Given the description of an element on the screen output the (x, y) to click on. 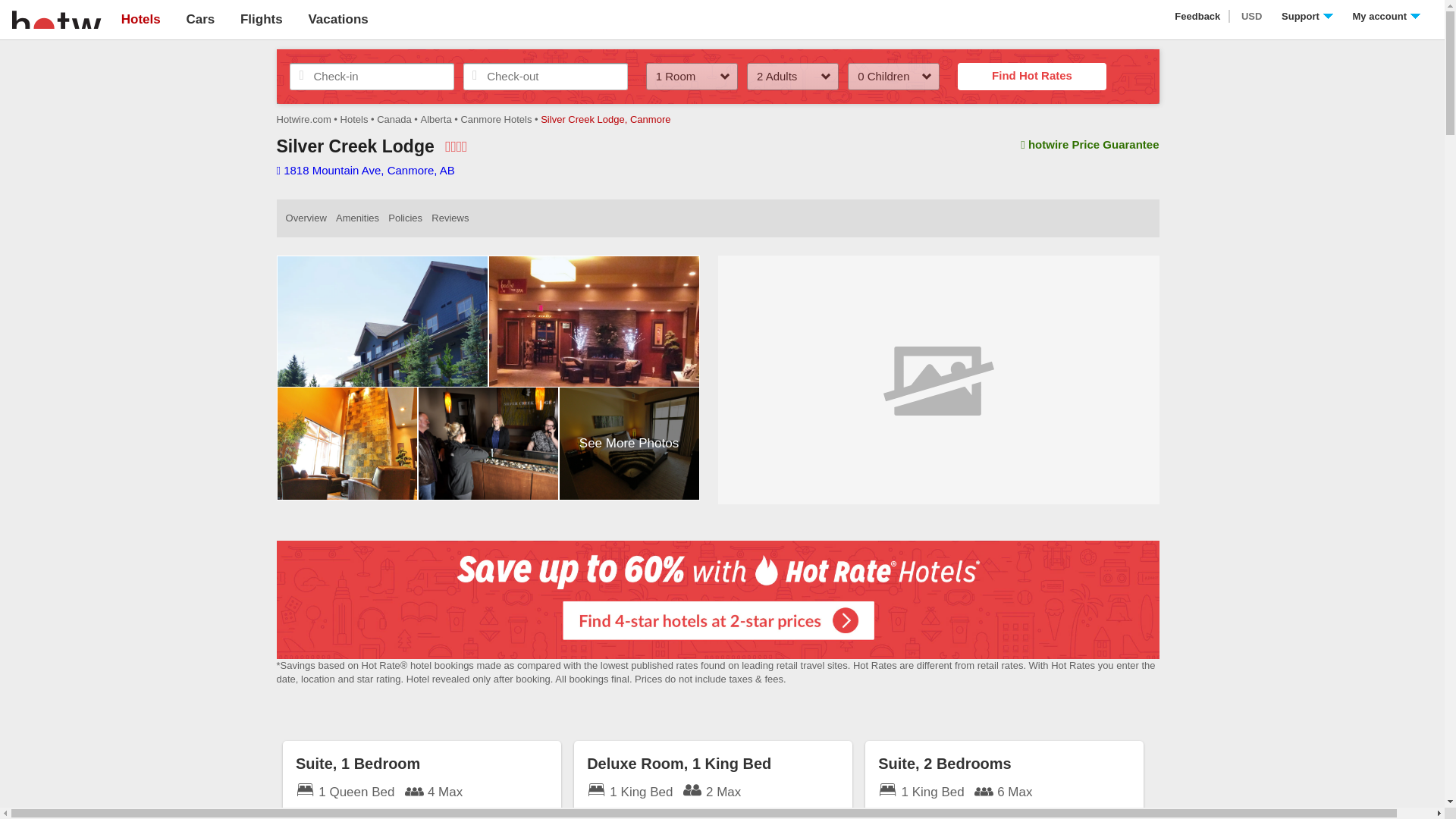
3.5 (456, 146)
Feedback (1198, 16)
Support (1307, 16)
Flights (261, 19)
My account (1386, 16)
Vacations (337, 19)
Hotels (140, 19)
Hotwire (56, 18)
Cars (200, 19)
